Given the description of an element on the screen output the (x, y) to click on. 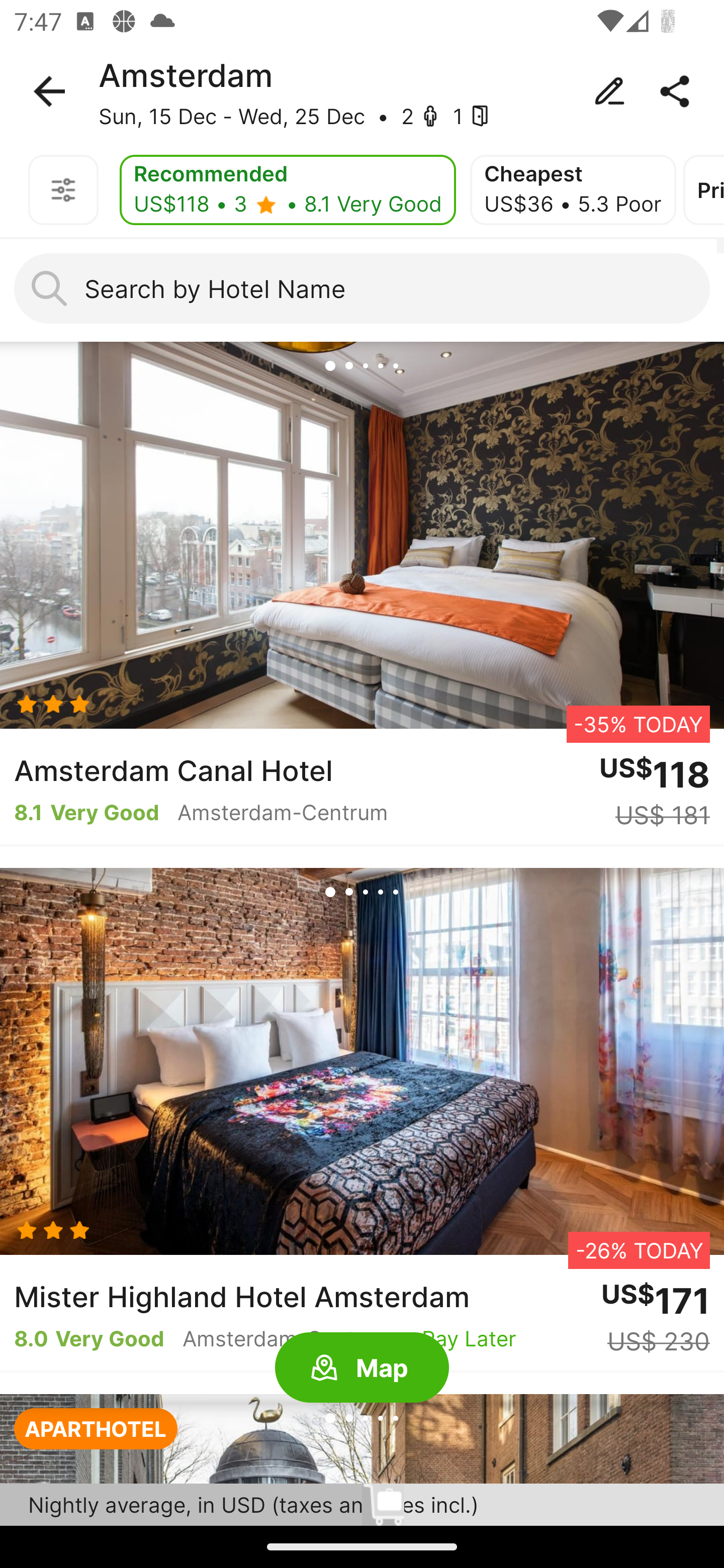
Amsterdam Sun, 15 Dec - Wed, 25 Dec  •  2 -  1 - (361, 91)
Recommended  US$118  • 3 - • 8.1 Very Good (287, 190)
Cheapest US$36  • 5.3 Poor (572, 190)
Search by Hotel Name  (361, 288)
Map  (361, 1367)
